Given the description of an element on the screen output the (x, y) to click on. 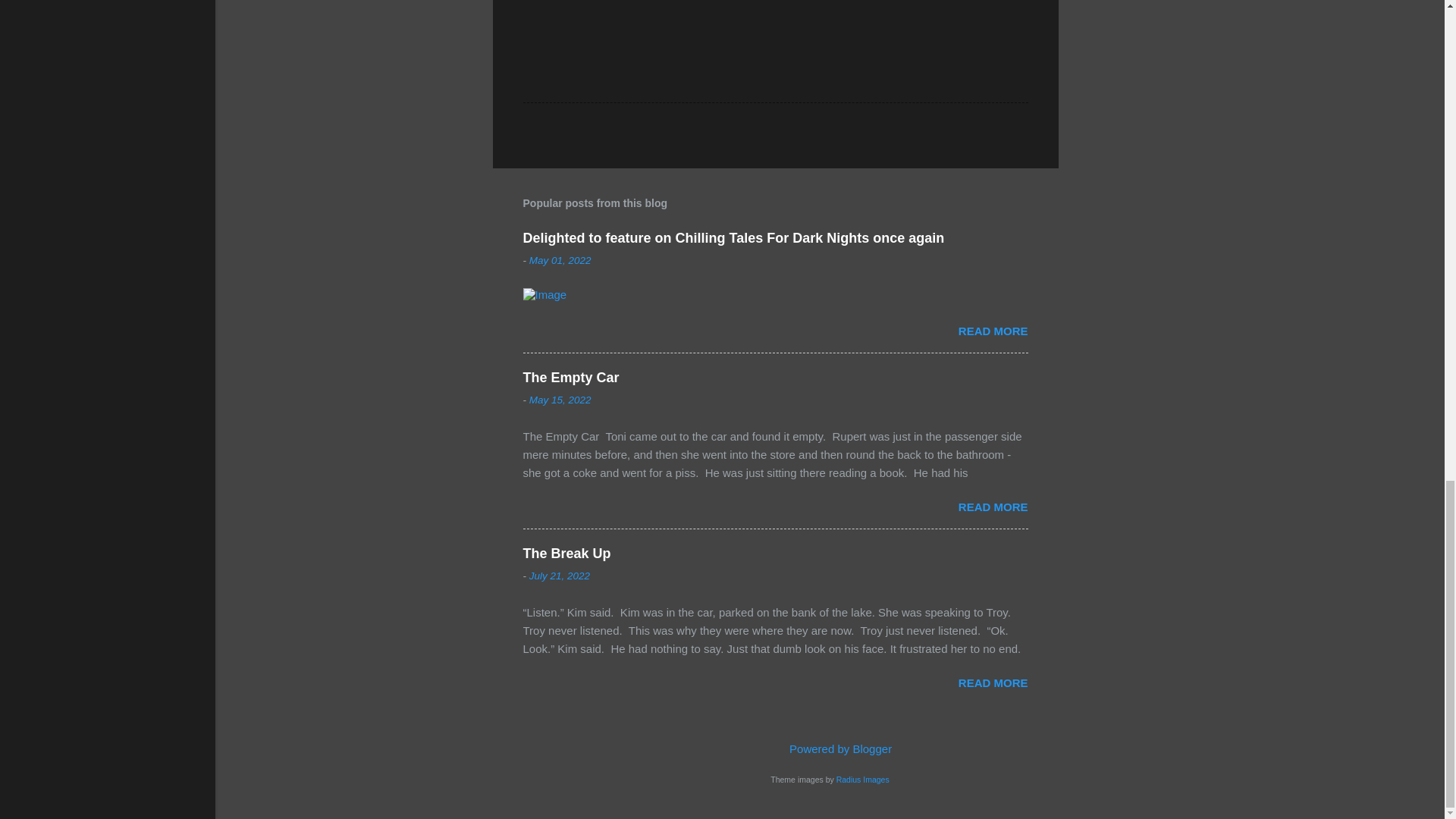
permanent link (560, 260)
May 01, 2022 (560, 260)
May 15, 2022 (560, 399)
The Break Up (566, 553)
July 21, 2022 (559, 575)
READ MORE (992, 330)
The Empty Car (571, 377)
READ MORE (992, 506)
Radius Images (862, 778)
Powered by Blogger (829, 748)
READ MORE (992, 682)
